Given the description of an element on the screen output the (x, y) to click on. 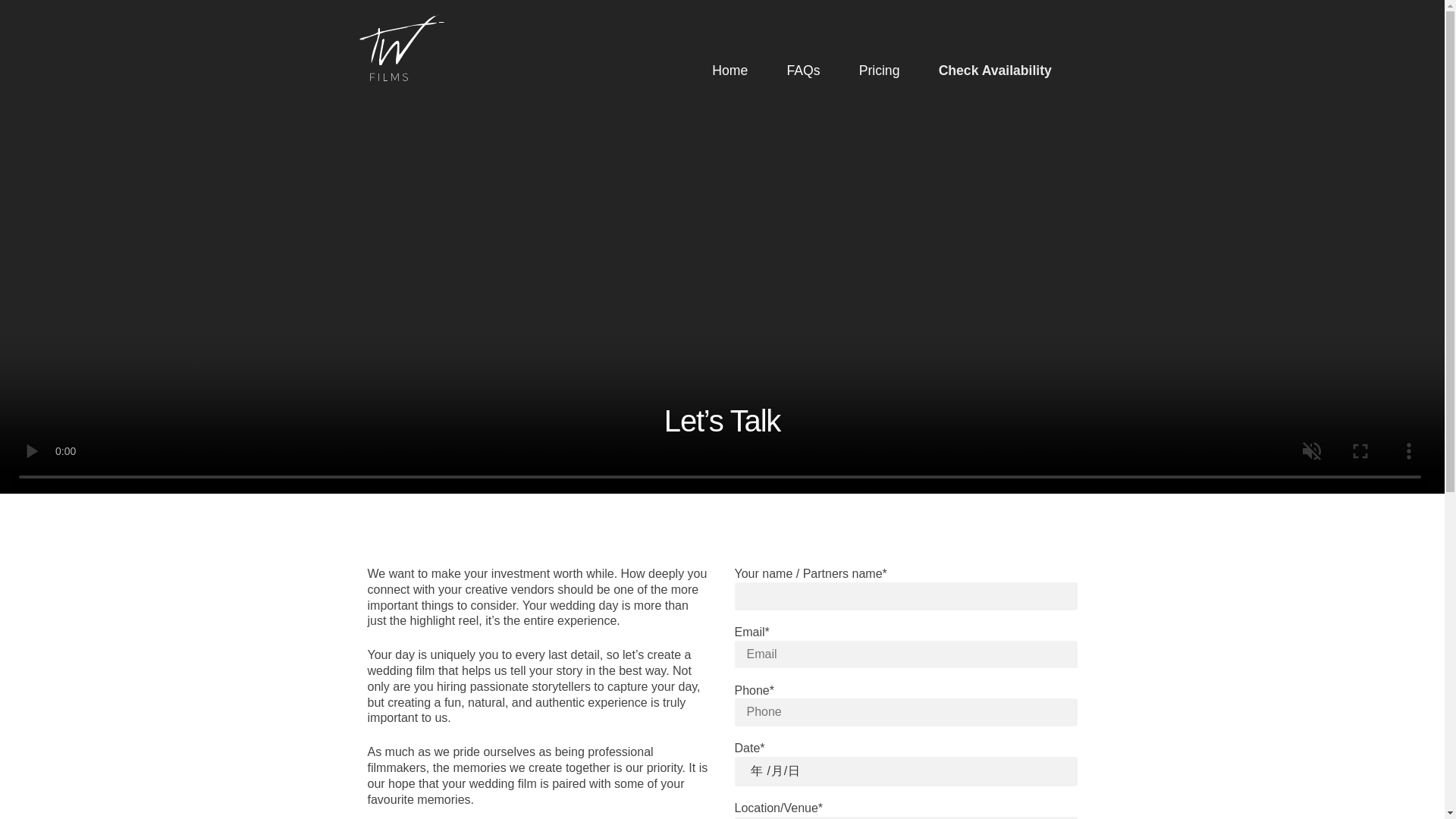
Check Availability (994, 71)
Home (729, 71)
Pricing (878, 71)
FAQs (802, 71)
